Given the description of an element on the screen output the (x, y) to click on. 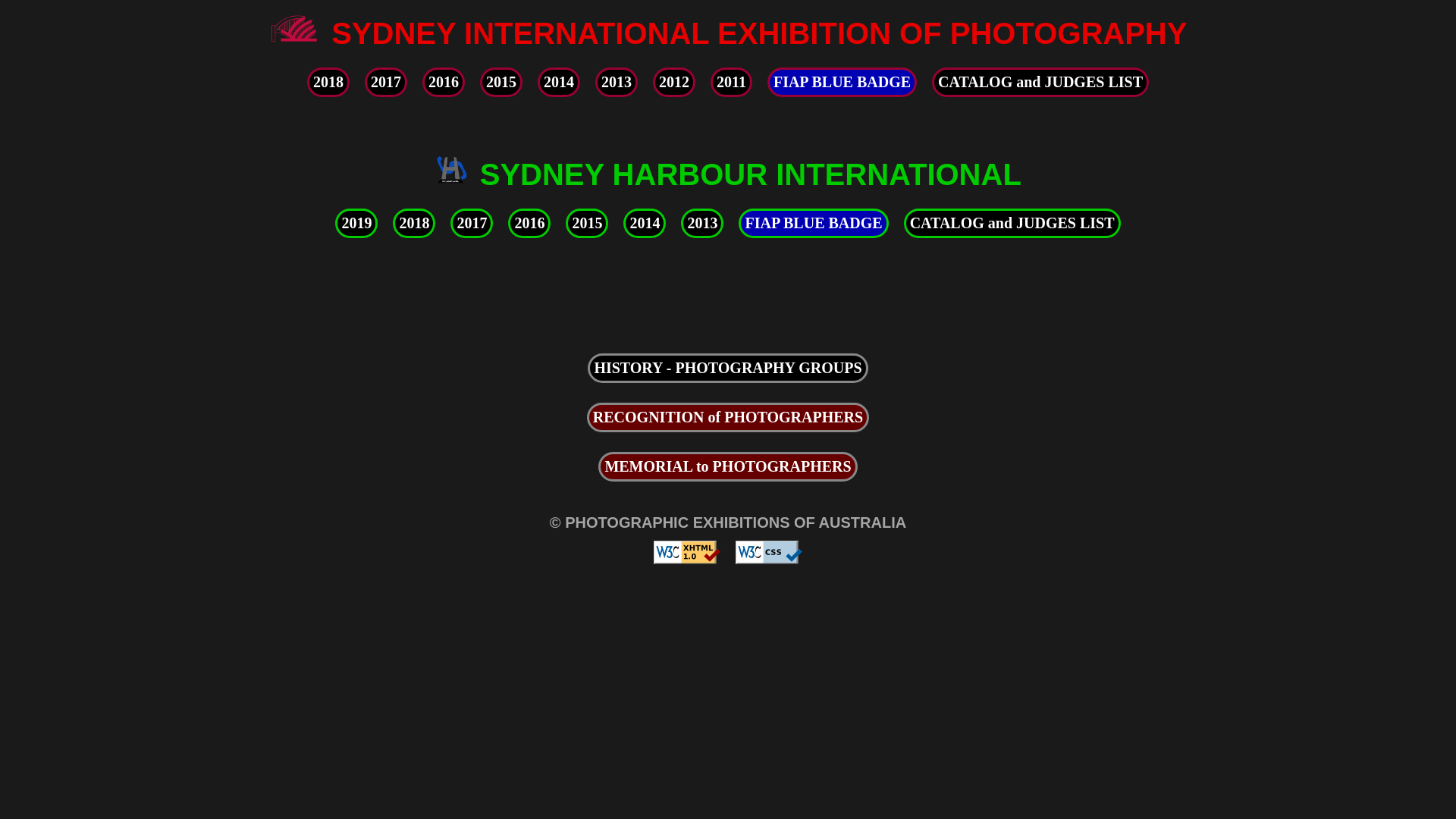
2018 Element type: text (413, 223)
2018 Element type: text (328, 82)
2014 Element type: text (558, 82)
2016 Element type: text (529, 223)
2019 Element type: text (356, 223)
2013 Element type: text (616, 82)
2016 Element type: text (443, 82)
2013 Element type: text (701, 223)
2015 Element type: text (586, 223)
CATALOG and JUDGES LIST Element type: text (1039, 82)
2017 Element type: text (471, 223)
2017 Element type: text (385, 82)
FIAP BLUE BADGE Element type: text (841, 82)
2015 Element type: text (501, 82)
FIAP BLUE BADGE Element type: text (813, 223)
2014 Element type: text (644, 223)
2011 Element type: text (731, 82)
CATALOG and JUDGES LIST Element type: text (1011, 223)
MEMORIAL to PHOTOGRAPHERS Element type: text (727, 466)
2012 Element type: text (673, 82)
RECOGNITION of PHOTOGRAPHERS Element type: text (727, 417)
HISTORY - PHOTOGRAPHY GROUPS Element type: text (727, 367)
